Given the description of an element on the screen output the (x, y) to click on. 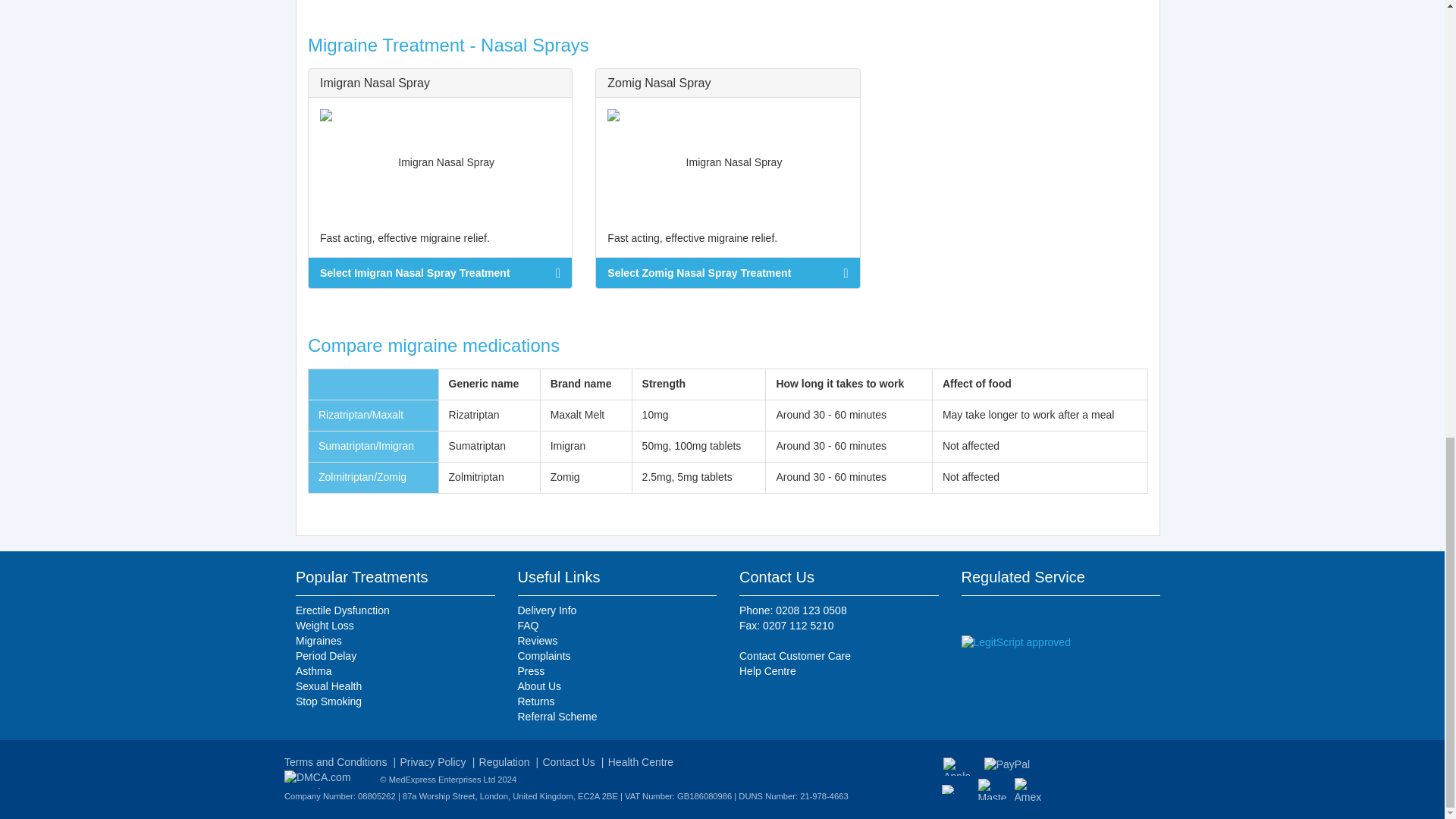
Weight Loss (395, 626)
Popular Treatments (361, 576)
Delivery Info (616, 611)
Erectile Dysfunction (395, 611)
DMCA.com Protection Status (329, 778)
Useful Links (557, 576)
Asthma (395, 671)
Period Delay (395, 656)
Complaints (616, 656)
Verify LegitScript Approval (1015, 642)
Migraines (395, 641)
Stop Smoking (395, 702)
